Given the description of an element on the screen output the (x, y) to click on. 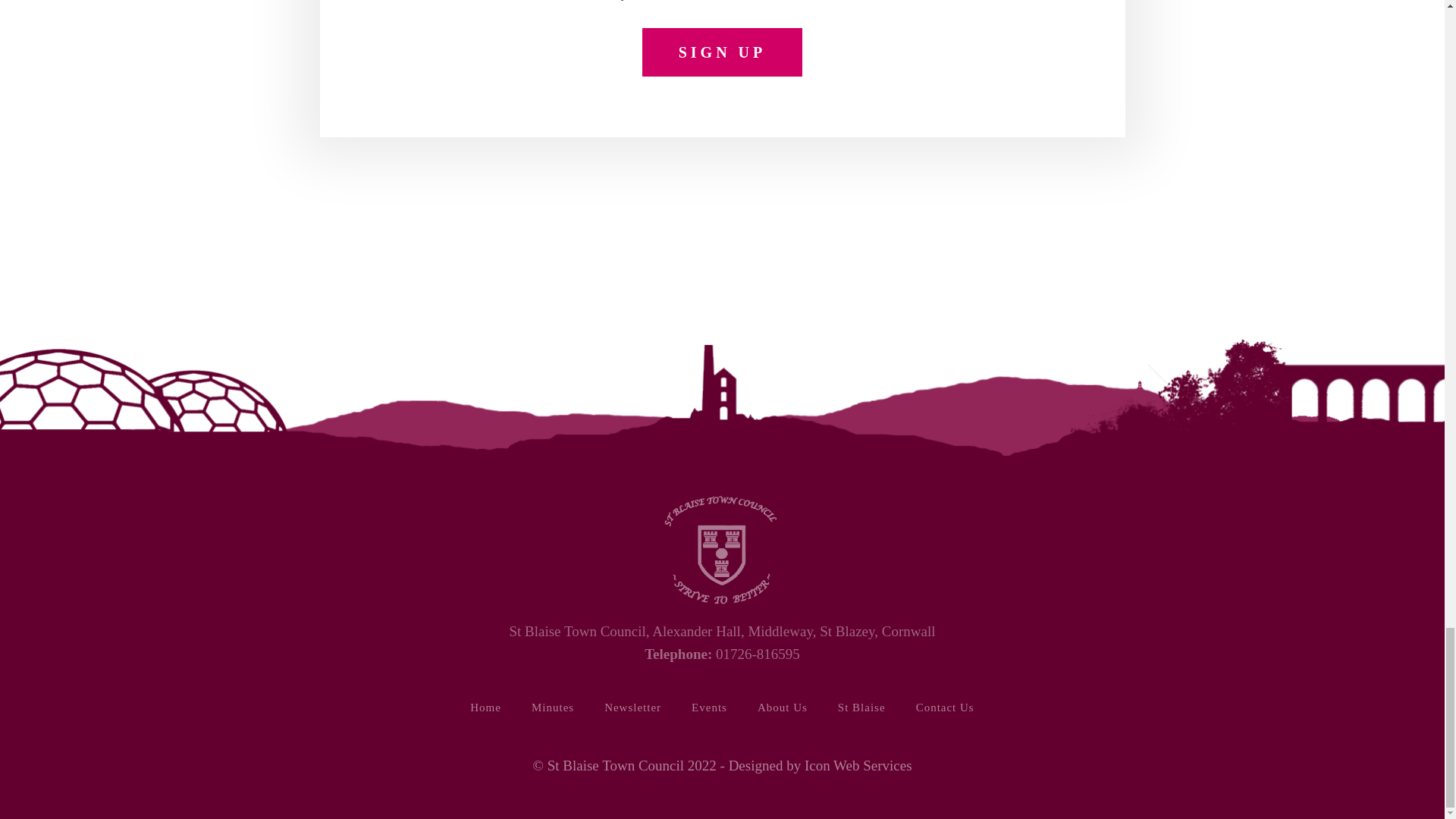
Home (485, 707)
Contact Us (945, 707)
St Blaise (861, 707)
Events (709, 707)
Minutes (552, 707)
About Us (782, 707)
SIGN UP (722, 51)
Newsletter (633, 707)
